Given the description of an element on the screen output the (x, y) to click on. 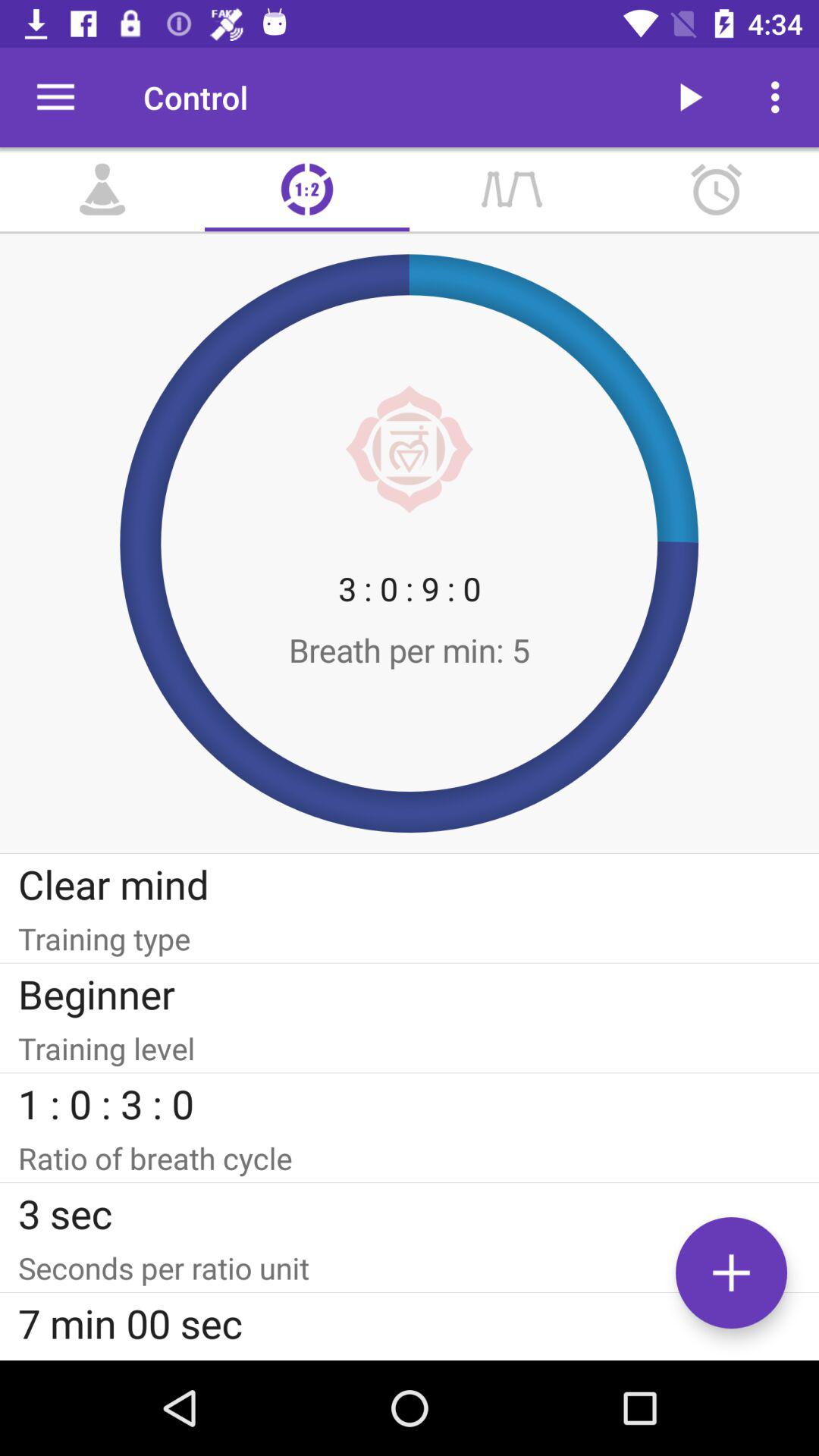
turn off item below the clear mind (409, 938)
